Given the description of an element on the screen output the (x, y) to click on. 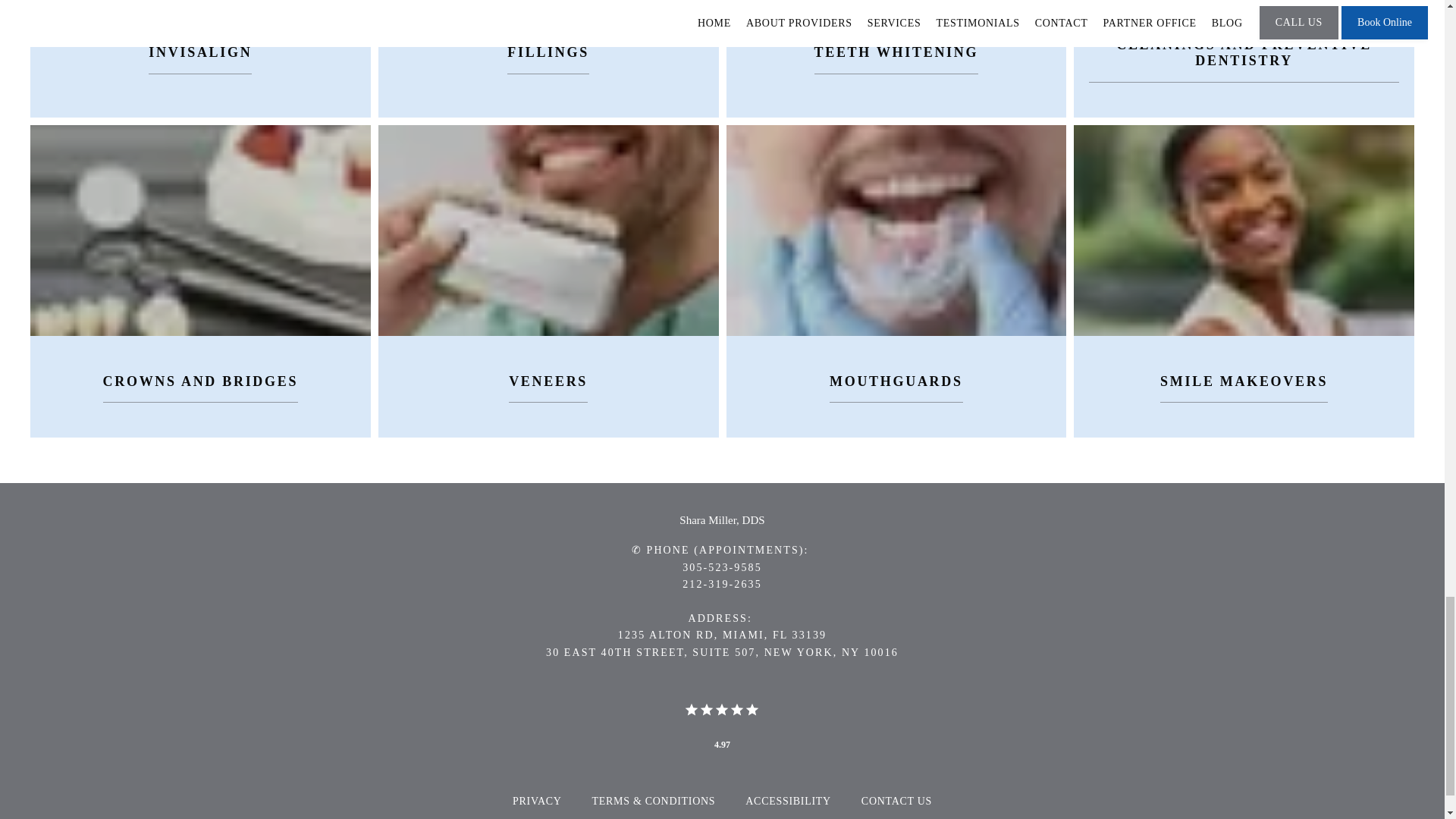
ACCESSIBILITY (788, 800)
CONTACT US (896, 800)
SMILE MAKEOVERS (1243, 382)
CLEANINGS AND PREVENTIVE DENTISTRY (1244, 52)
TEETH WHITENING (895, 52)
VENEERS (548, 382)
CROWNS AND BRIDGES (200, 382)
MOUTHGUARDS (895, 382)
INVISALIGN (199, 52)
PRIVACY (537, 800)
